Given the description of an element on the screen output the (x, y) to click on. 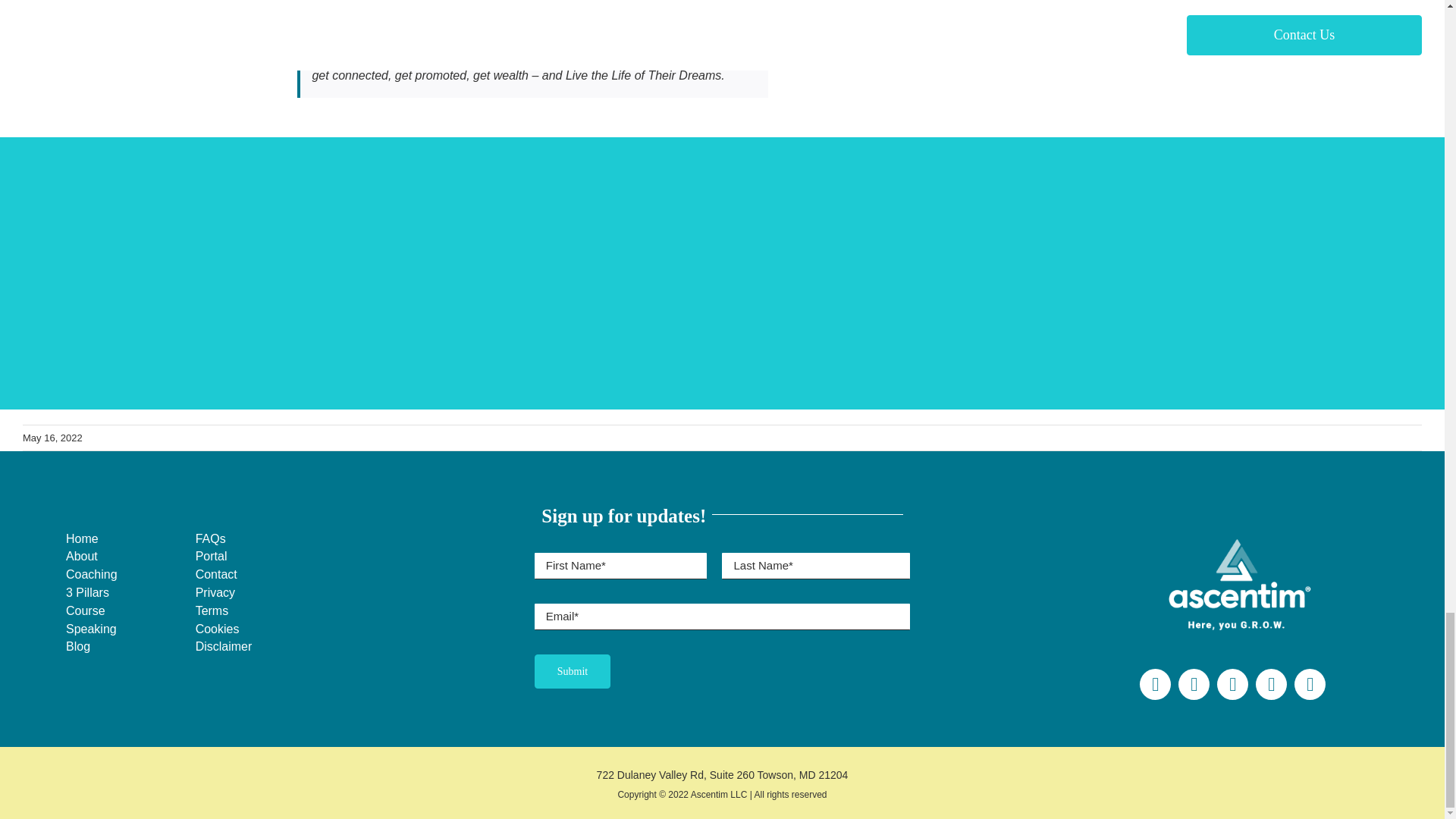
Facebook (1155, 684)
Privacy (259, 593)
LinkedIn (1309, 684)
3 Pillars (91, 593)
Disclaimer (259, 647)
Course (91, 611)
Contact (259, 575)
Speaking (91, 628)
About (91, 557)
Cookies (259, 628)
Home (91, 539)
Blog (91, 647)
Coaching (91, 575)
Terms (259, 611)
FAQs (259, 539)
